Given the description of an element on the screen output the (x, y) to click on. 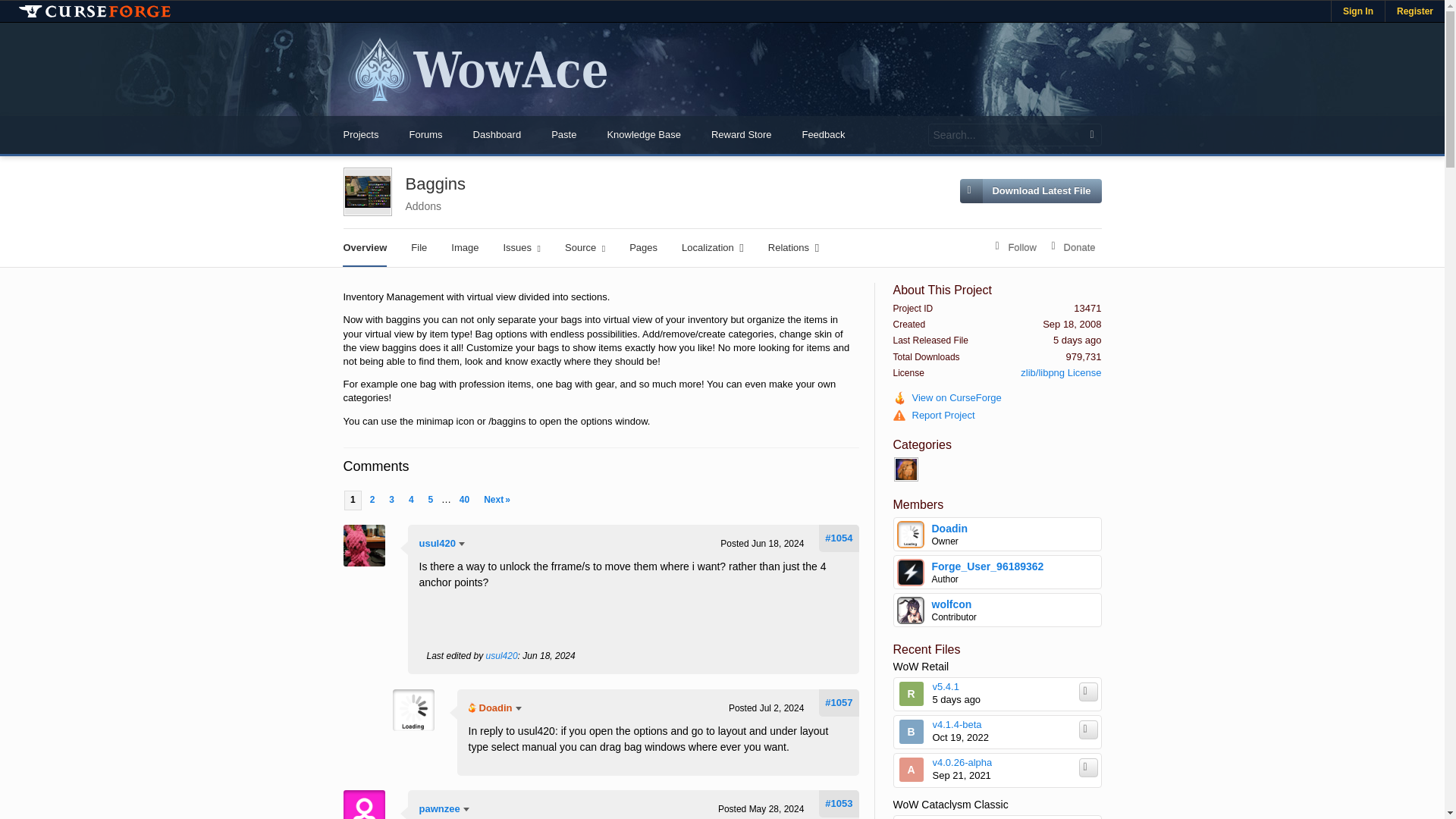
Addons (422, 205)
Next (496, 500)
Projects (360, 134)
Baggins (434, 189)
Issues (521, 247)
You must log in to follow a project. (1016, 247)
Feedback (823, 134)
Donate (1073, 247)
Image (464, 247)
Paste (563, 134)
CurseForge (94, 11)
Localization (712, 247)
Relations (793, 247)
Source (585, 247)
File (418, 247)
